Given the description of an element on the screen output the (x, y) to click on. 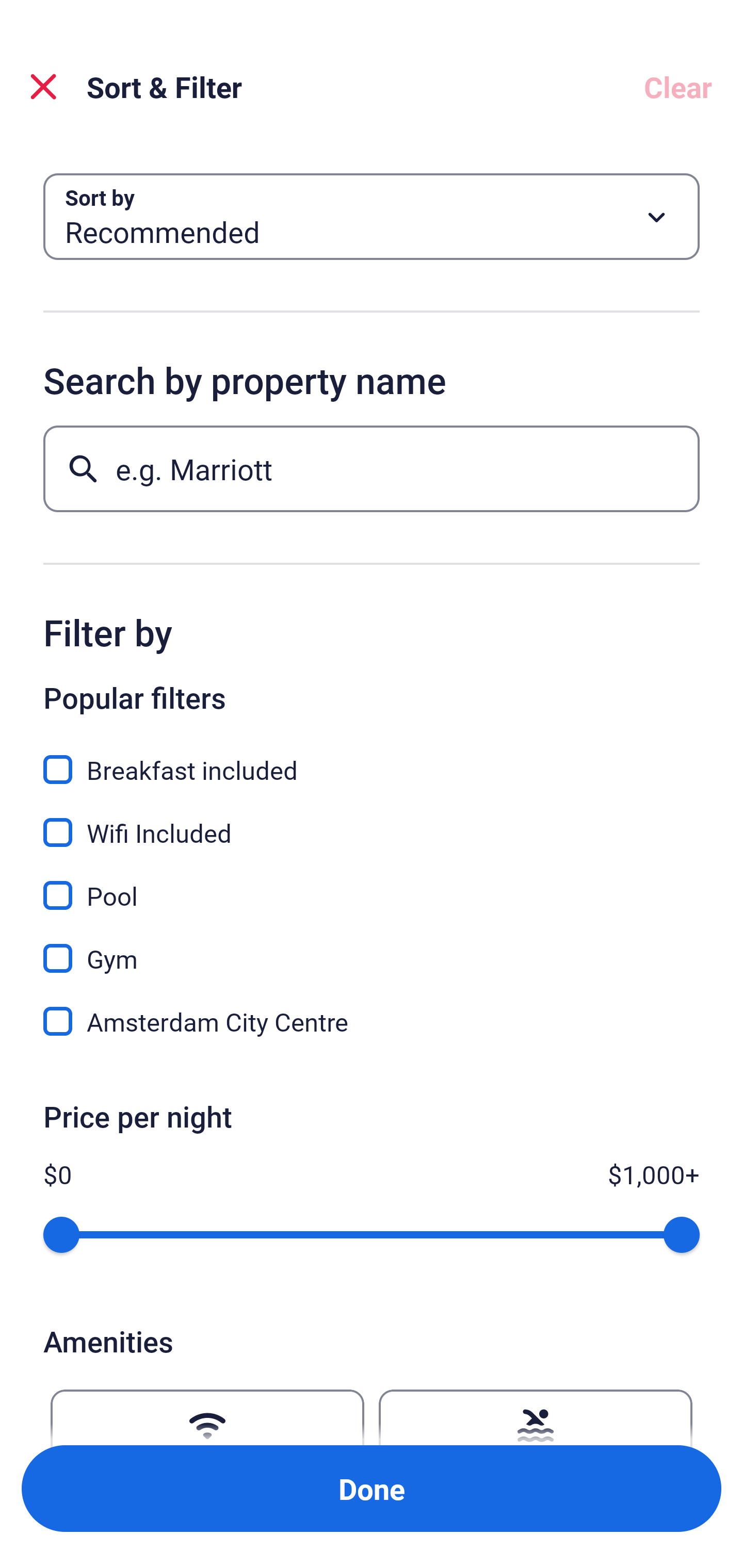
Close Sort and Filter (43, 86)
Clear (677, 86)
Sort by Button Recommended (371, 217)
e.g. Marriott Button (371, 468)
Breakfast included, Breakfast included (371, 757)
Wifi Included, Wifi Included (371, 821)
Pool, Pool (371, 883)
Gym, Gym (371, 946)
Amsterdam City Centre, Amsterdam City Centre (371, 1021)
Apply and close Sort and Filter Done (371, 1488)
